Given the description of an element on the screen output the (x, y) to click on. 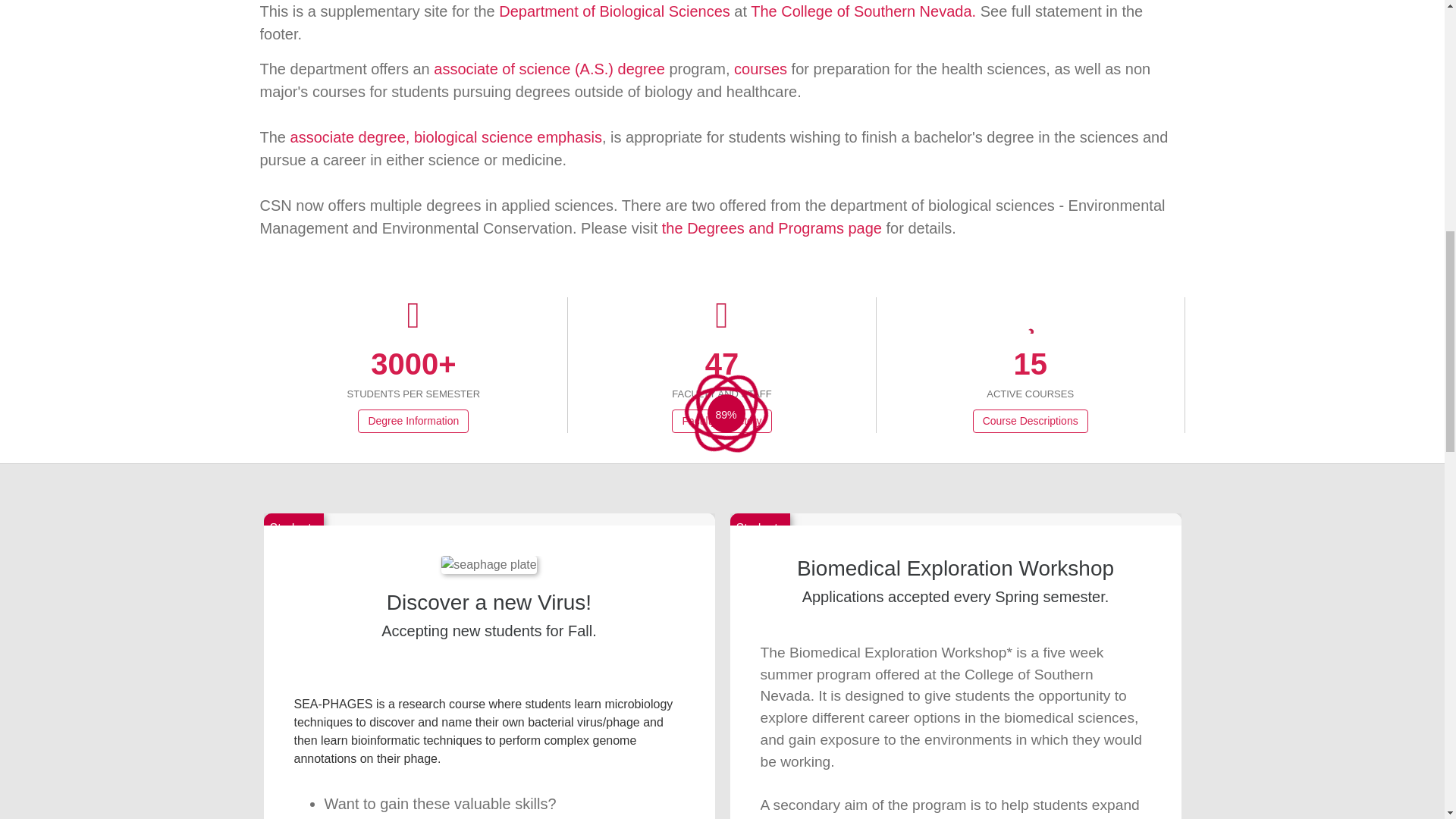
47 (721, 363)
Faculty and Staff (721, 363)
Degrees and Programs (549, 68)
47 (721, 363)
15 (1029, 363)
15 (1029, 363)
the Degrees and Programs page (772, 228)
Courses (1029, 363)
Degrees and Programs (772, 228)
Department of Biological Sciences (614, 11)
